Given the description of an element on the screen output the (x, y) to click on. 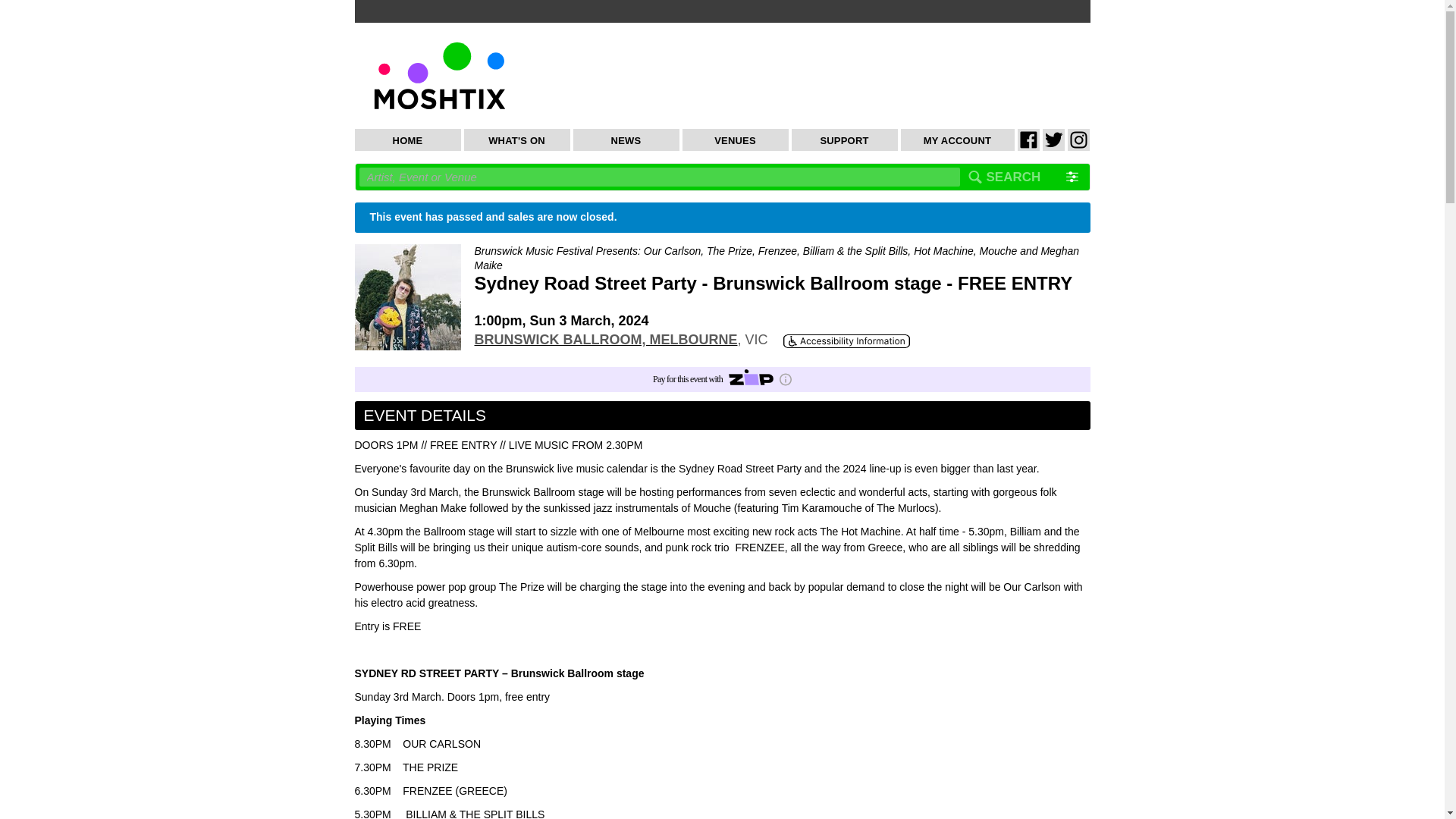
BRUNSWICK BALLROOM, MELBOURNE (606, 339)
SEARCH (1013, 177)
NEWS (626, 139)
SUPPORT (845, 139)
VENUES (735, 139)
MY ACCOUNT (957, 139)
WHAT'S ON (517, 139)
HOME (408, 139)
